Given the description of an element on the screen output the (x, y) to click on. 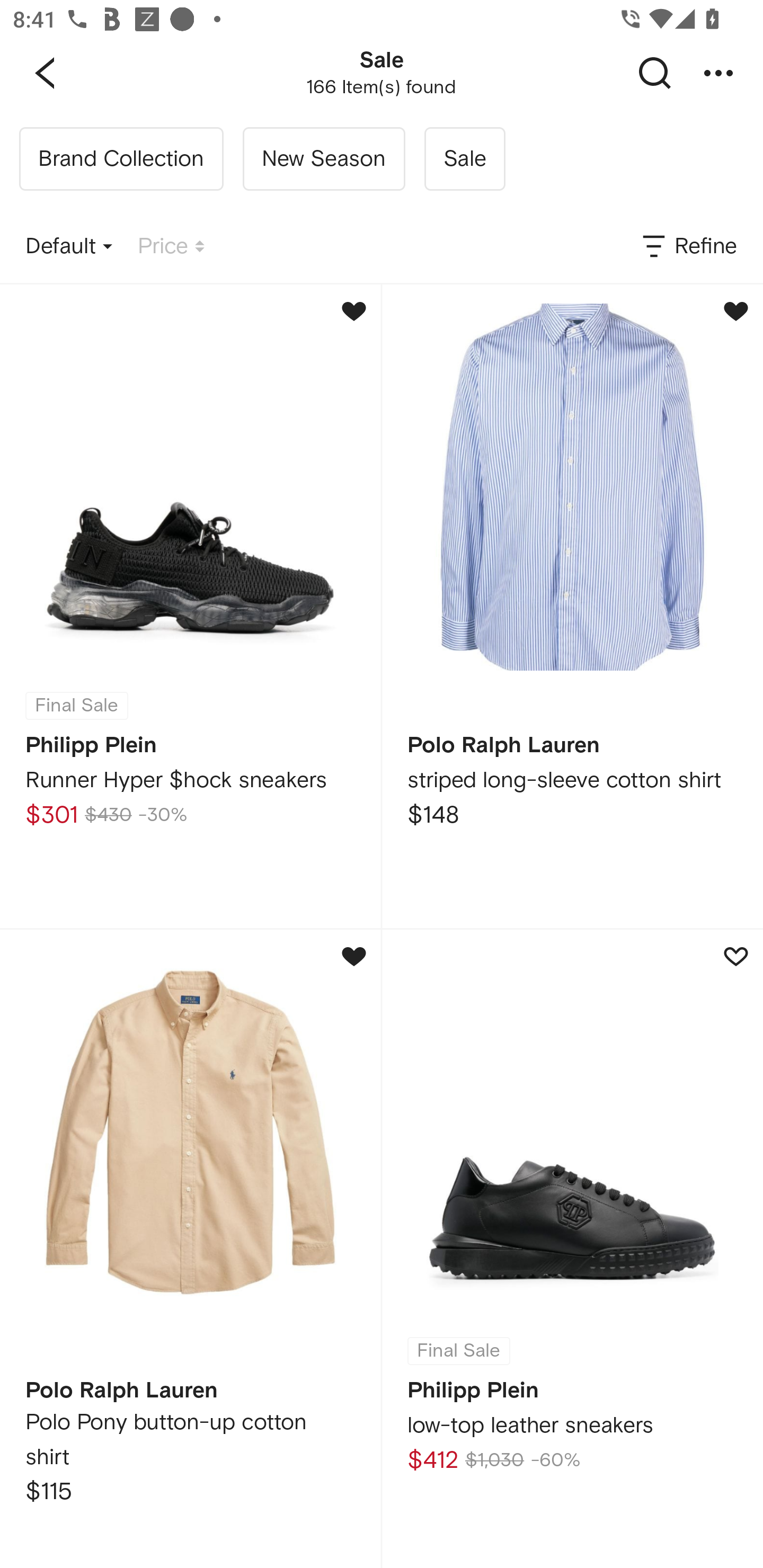
Brand Collection (121, 158)
New Season (323, 158)
Sale (464, 158)
Default (68, 246)
Price (171, 246)
Refine (688, 246)
